Given the description of an element on the screen output the (x, y) to click on. 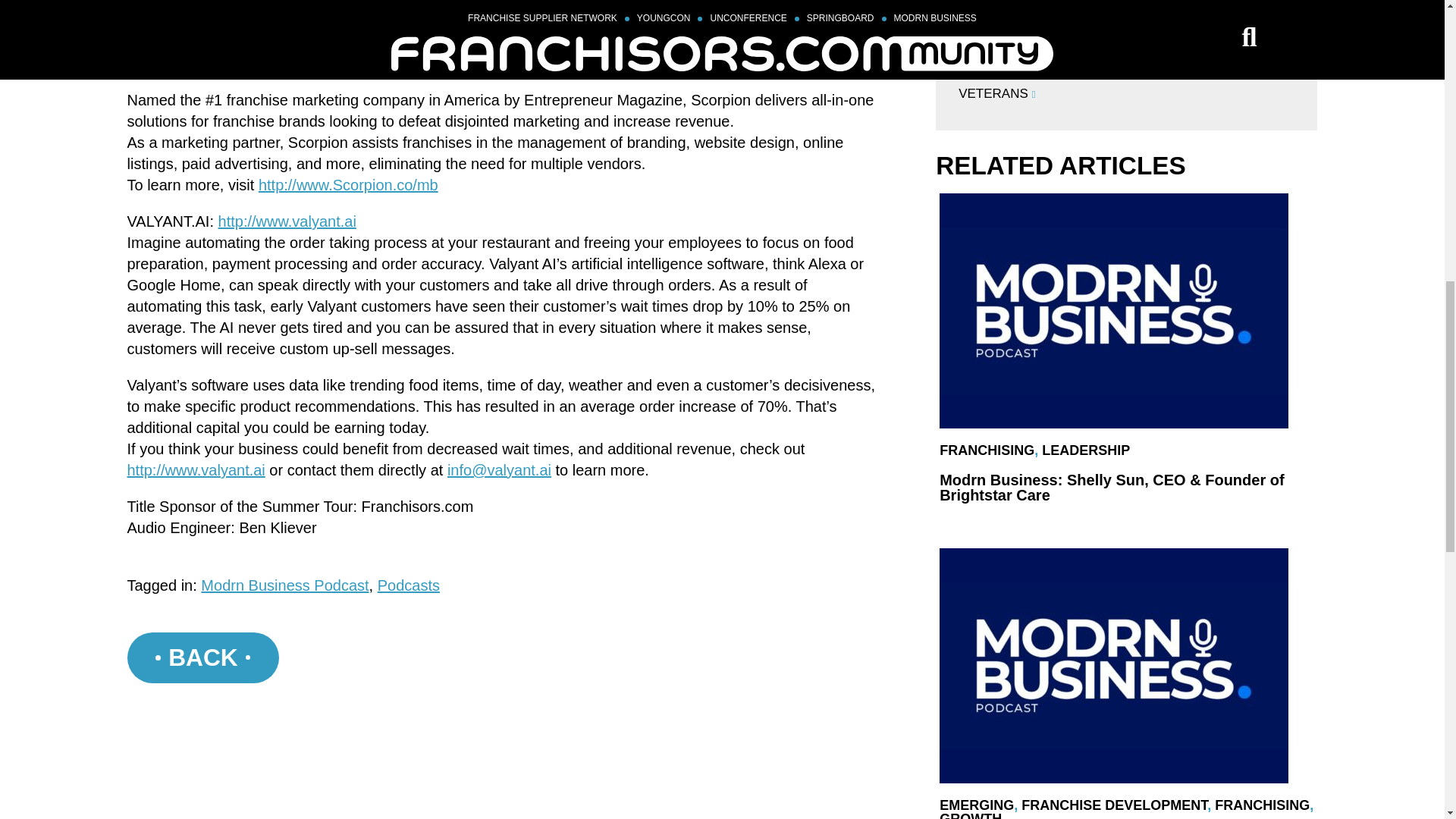
View all posts in Growth (970, 815)
Modrn Business Podcast (284, 585)
Podcasts (408, 585)
View all posts in Franchise development (1114, 805)
View all posts in Franchising (1261, 805)
View all posts in Leadership (1085, 450)
BACK (203, 657)
View all posts in Franchising (986, 450)
View all posts in Emerging (976, 805)
